Given the description of an element on the screen output the (x, y) to click on. 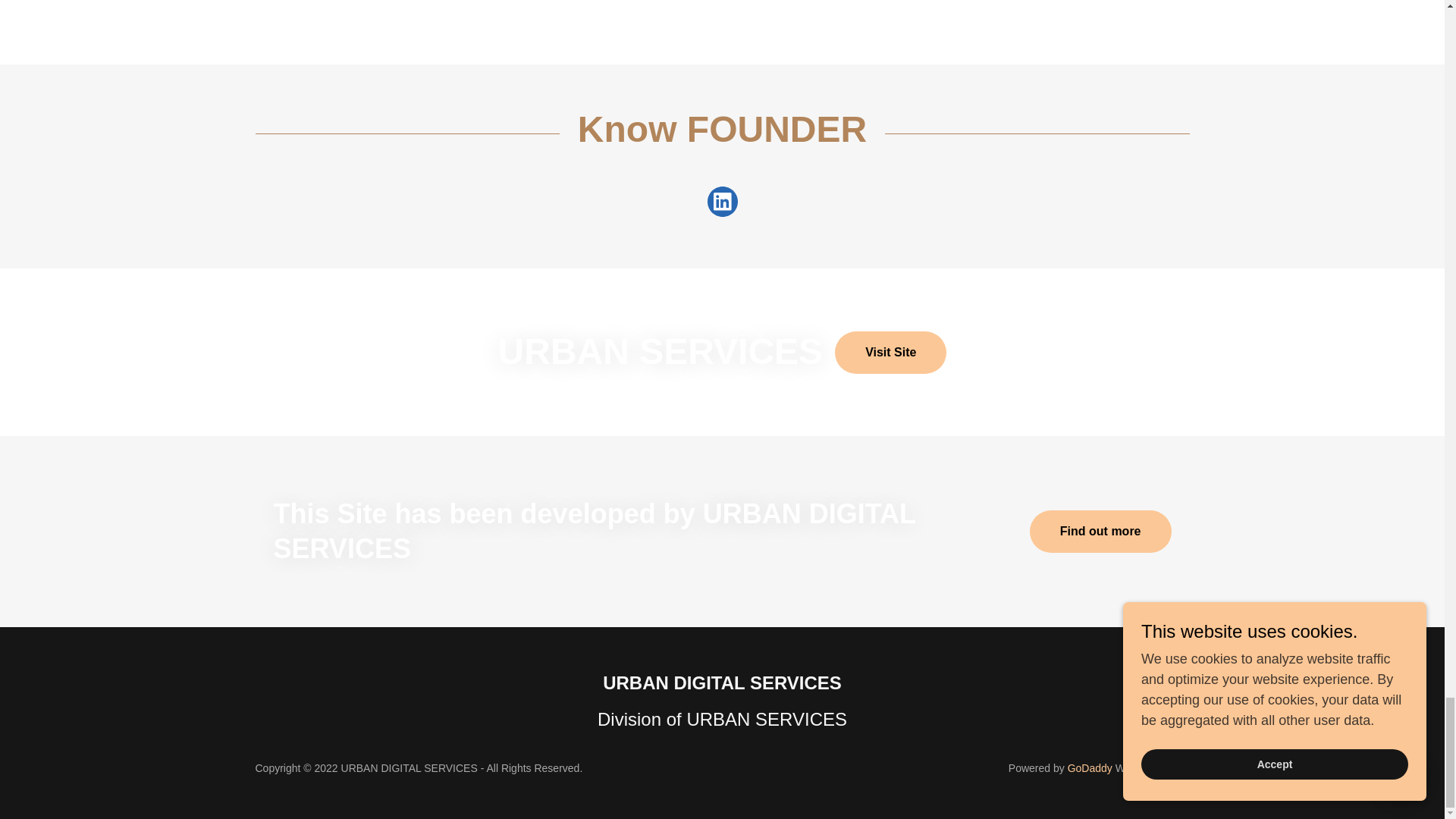
Visit Site (890, 352)
Find out more (1100, 531)
GoDaddy (1089, 767)
